Given the description of an element on the screen output the (x, y) to click on. 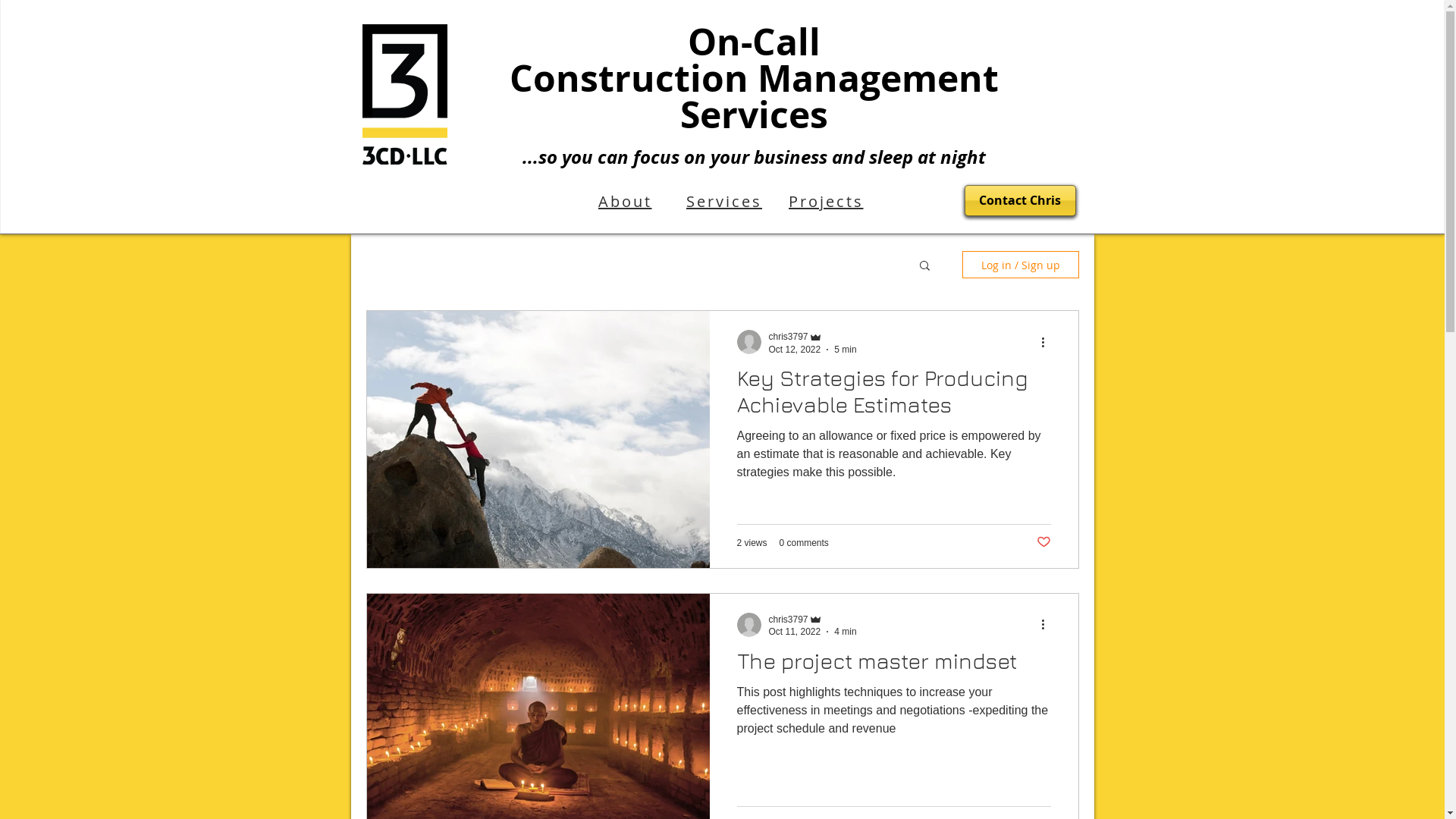
Projects Element type: text (825, 200)
Key Strategies for Producing Achievable Estimates Element type: text (894, 395)
Log in / Sign up Element type: text (1019, 264)
Post not marked as liked Element type: text (1042, 542)
0 comments Element type: text (803, 541)
About Element type: text (624, 200)
Contact Chris Element type: text (1020, 200)
Services Element type: text (724, 200)
The project master mindset Element type: text (894, 664)
